Given the description of an element on the screen output the (x, y) to click on. 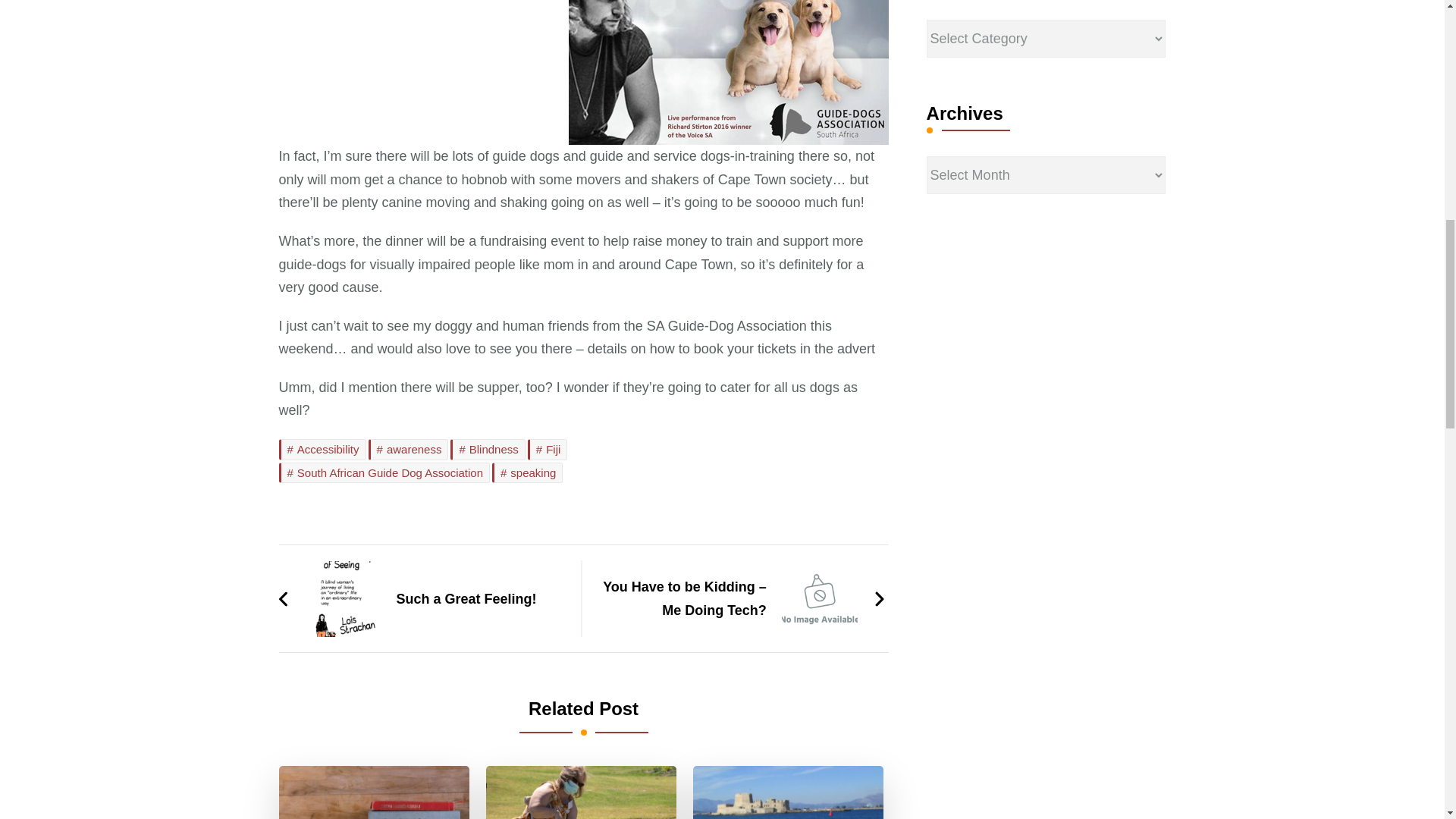
awareness (408, 449)
Accessibility (322, 449)
NewImage.png (728, 72)
